Given the description of an element on the screen output the (x, y) to click on. 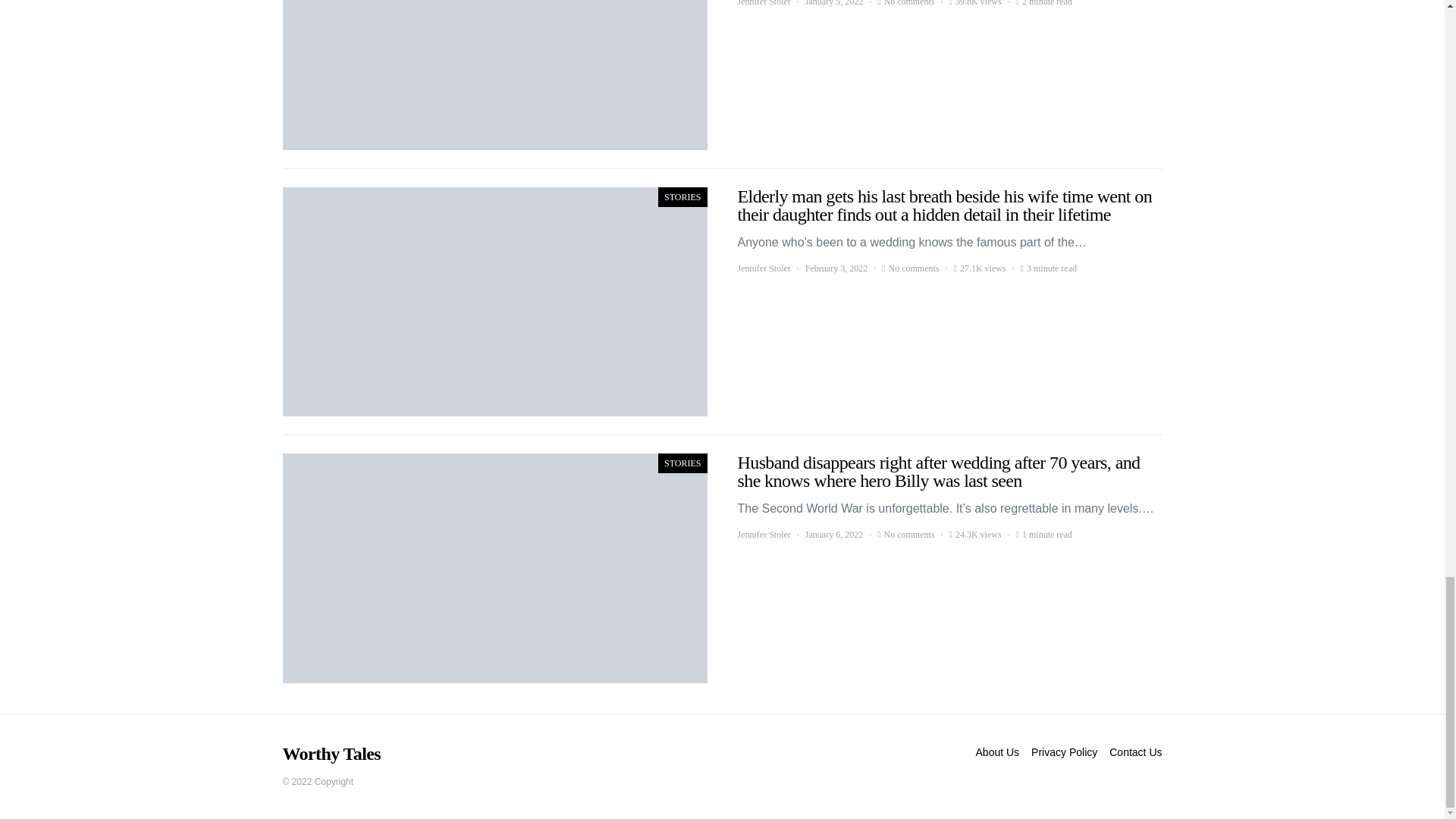
No comments (913, 268)
Jennifer Stoler (763, 4)
View all posts by Jennifer Stoler (763, 534)
Privacy Policy (1064, 752)
View all posts by Jennifer Stoler (763, 4)
No comments (908, 4)
View all posts by Jennifer Stoler (763, 268)
STORIES (682, 197)
No comments (908, 534)
Jennifer Stoler (763, 534)
Contact Us (1135, 752)
STORIES (682, 463)
